Given the description of an element on the screen output the (x, y) to click on. 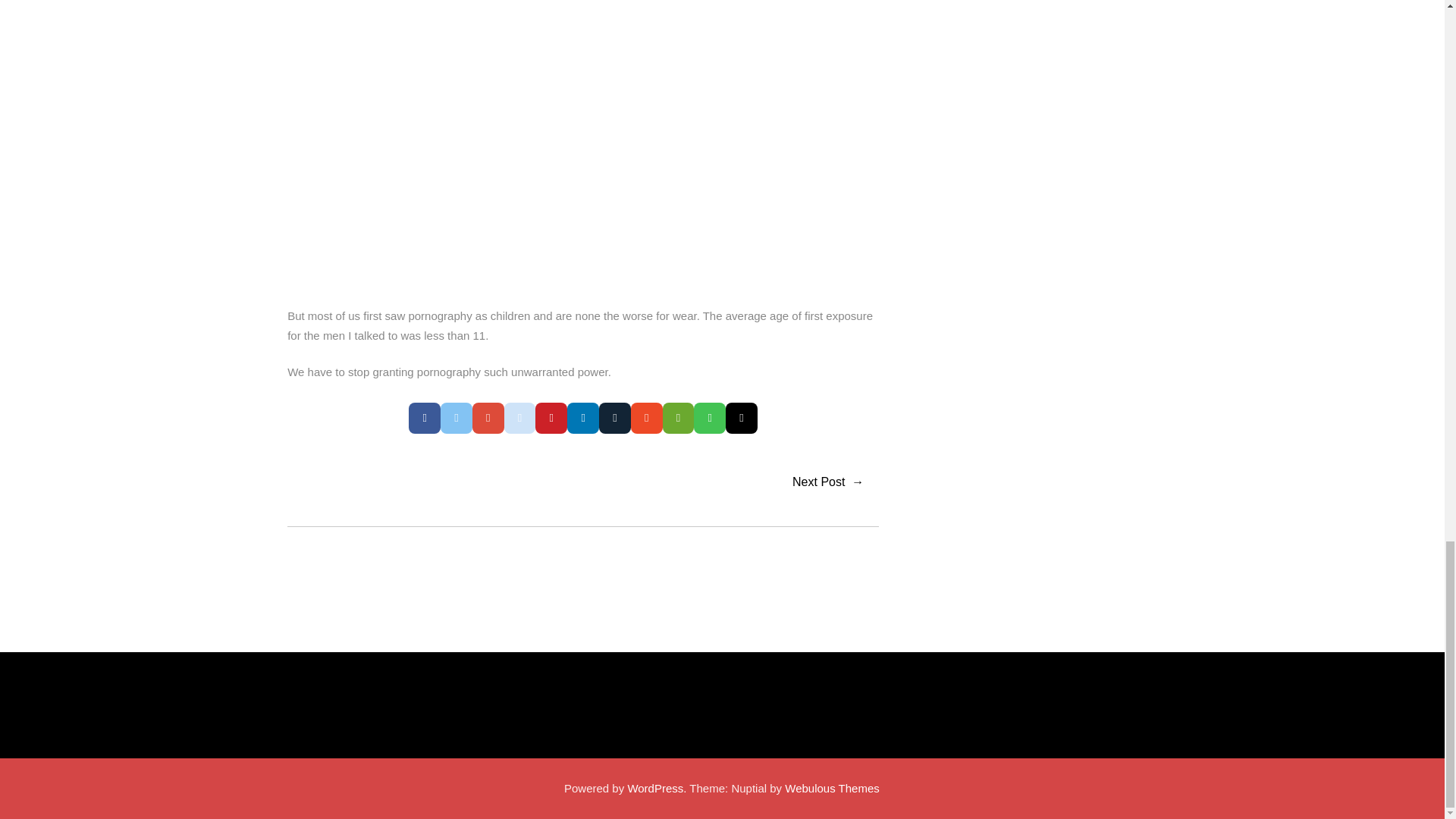
Tumblr (741, 418)
Print (614, 418)
WordPress. (656, 788)
WhatsApp (709, 418)
Mail (646, 418)
Pinterest (551, 418)
Reddit (519, 418)
Facebook (425, 418)
Webulous Themes (831, 788)
Linkedin (582, 418)
Twitter (456, 418)
Evernote (678, 418)
